Given the description of an element on the screen output the (x, y) to click on. 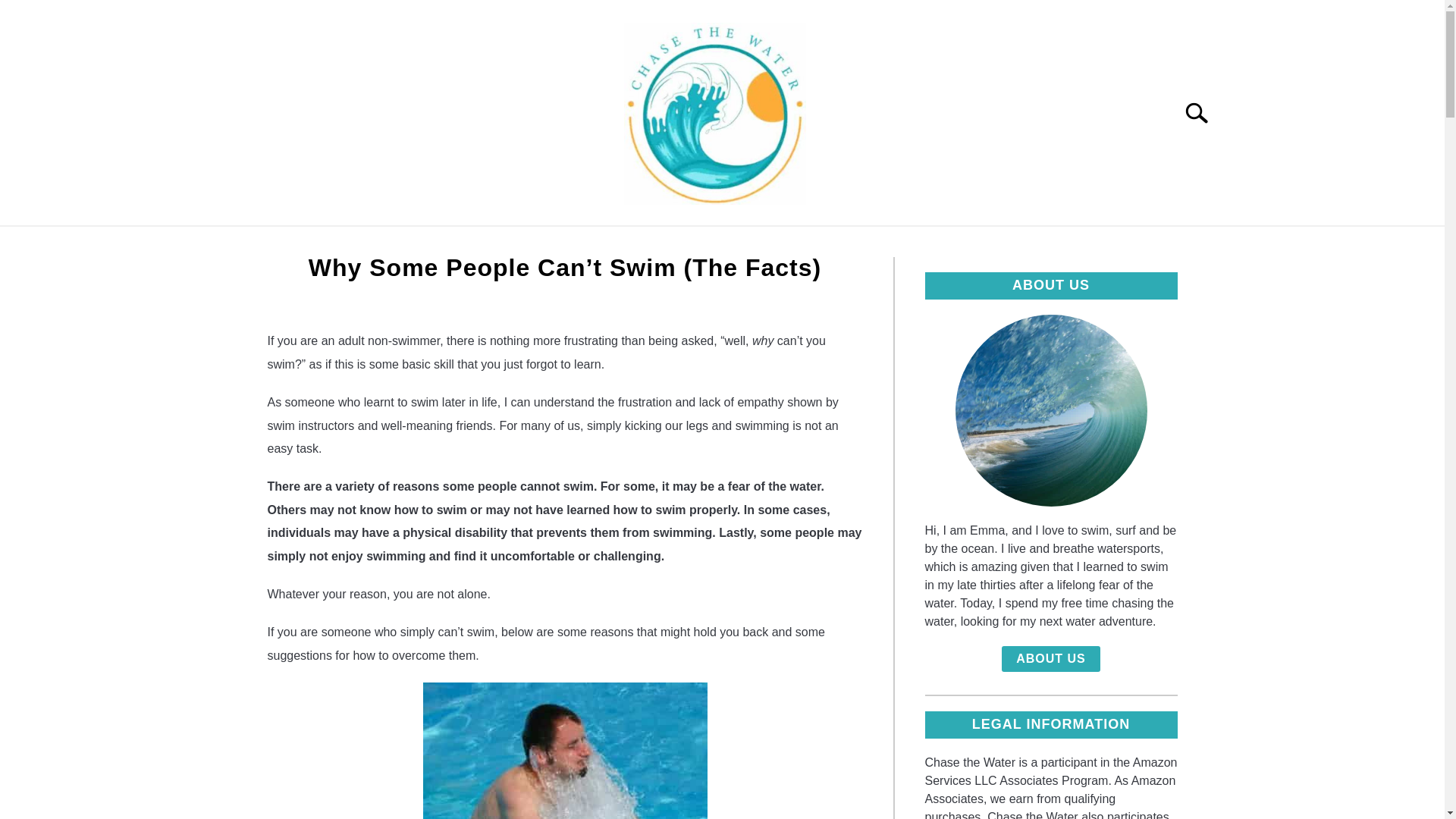
SURF (583, 243)
SWIM (510, 243)
Search (1203, 112)
WINDSURF (674, 243)
PADDLE BOARD (796, 243)
